Given the description of an element on the screen output the (x, y) to click on. 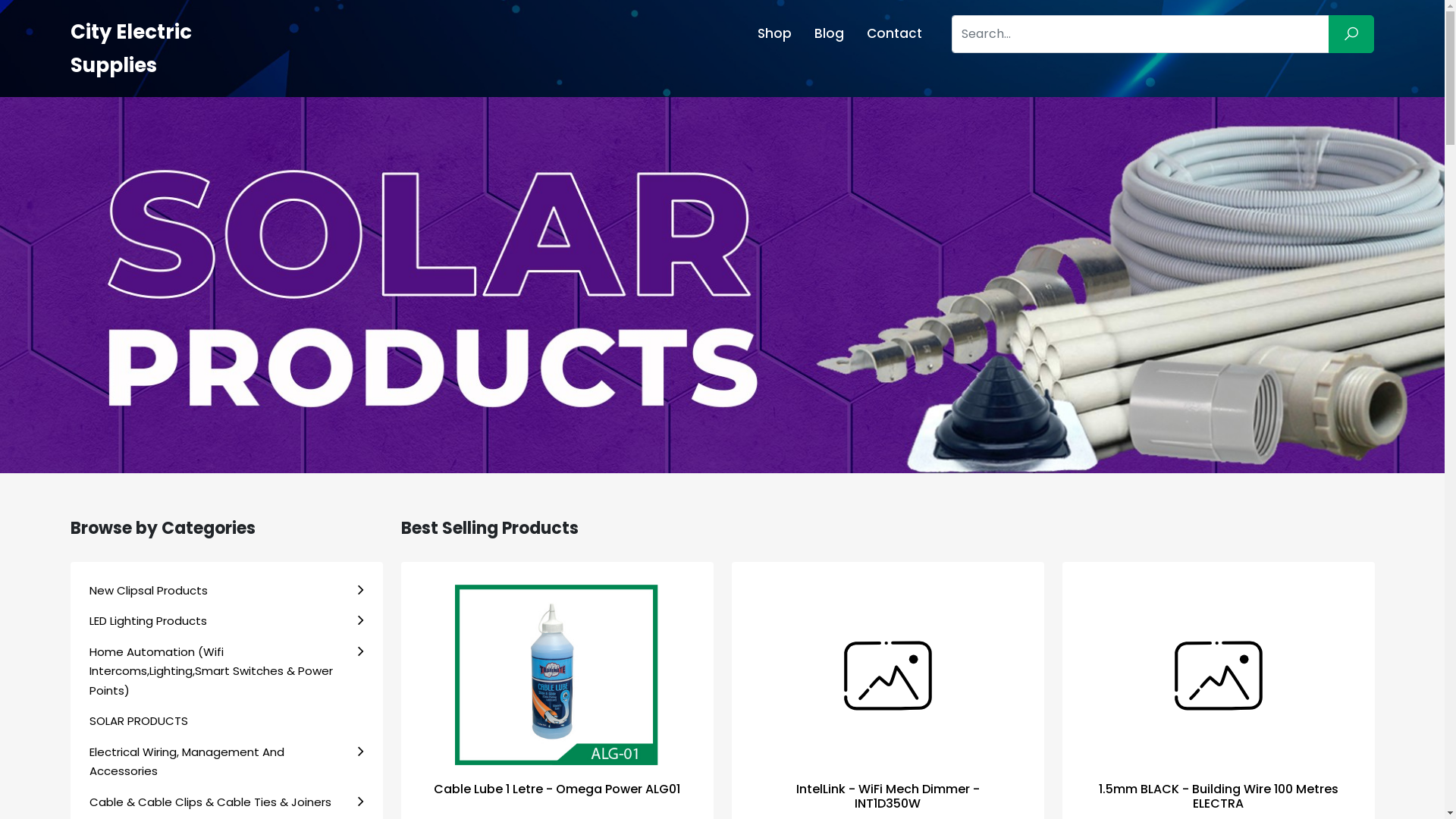
Cable Lube 1 Letre - Omega Power ALG01 Element type: hover (556, 675)
SOLAR PRODUCTS Element type: text (226, 721)
New Clipsal Products Element type: text (226, 590)
Electrical Wiring, Management And Accessories Element type: text (226, 761)
Cable Lube 1 Letre - Omega Power ALG01 Element type: text (556, 788)
IntelLink - WiFi Mech Dimmer - INT1D350W Element type: hover (887, 675)
IntelLink - WiFi Mech Dimmer - INT1D350W Element type: text (887, 796)
Cable & Cable Clips & Cable Ties & Joiners Element type: text (226, 802)
Contact Element type: text (894, 33)
City Electric Supplies Element type: text (130, 48)
Blog Element type: text (829, 33)
LED Lighting Products Element type: text (226, 620)
Shop Element type: text (774, 33)
1.5mm BLACK - Building Wire 100 Metres ELECTRA Element type: text (1217, 796)
1.5mm BLACK - Building Wire 100 Metres ELECTRA Element type: hover (1217, 675)
